Given the description of an element on the screen output the (x, y) to click on. 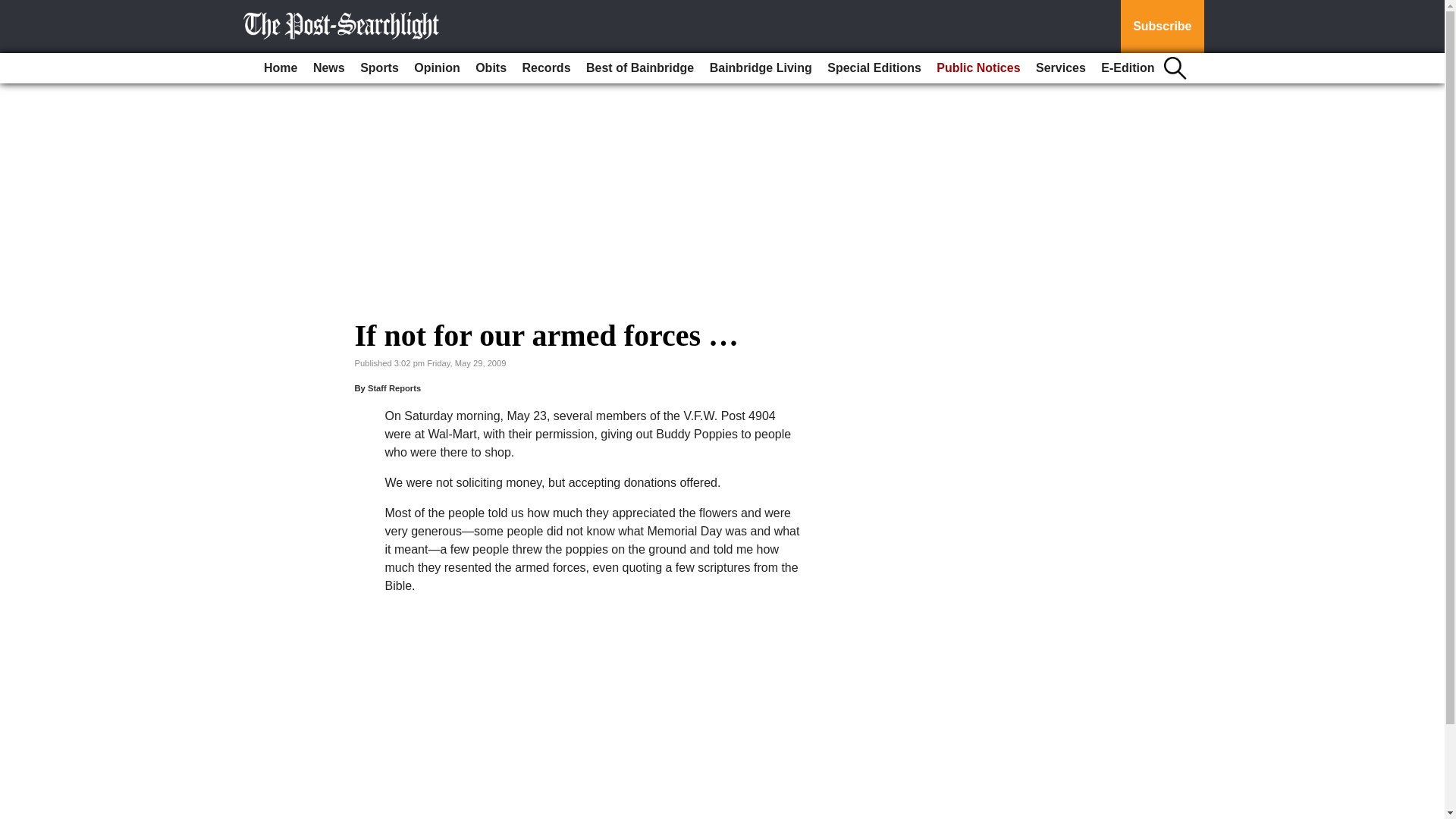
Staff Reports (394, 388)
Best of Bainbridge (639, 68)
News (328, 68)
Public Notices (978, 68)
Special Editions (874, 68)
E-Edition (1127, 68)
Obits (490, 68)
Records (546, 68)
Home (279, 68)
Services (1060, 68)
